Given the description of an element on the screen output the (x, y) to click on. 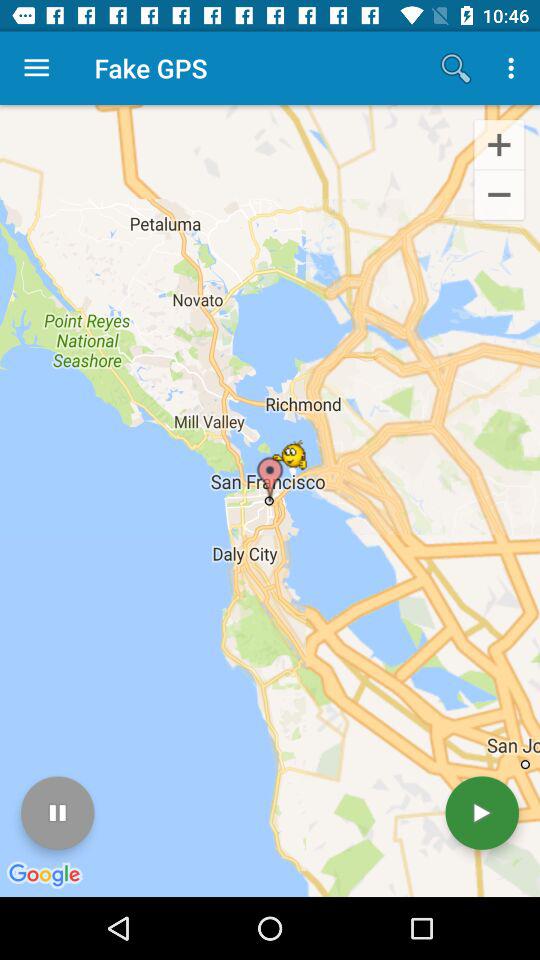
select app next to the fake gps item (36, 68)
